Given the description of an element on the screen output the (x, y) to click on. 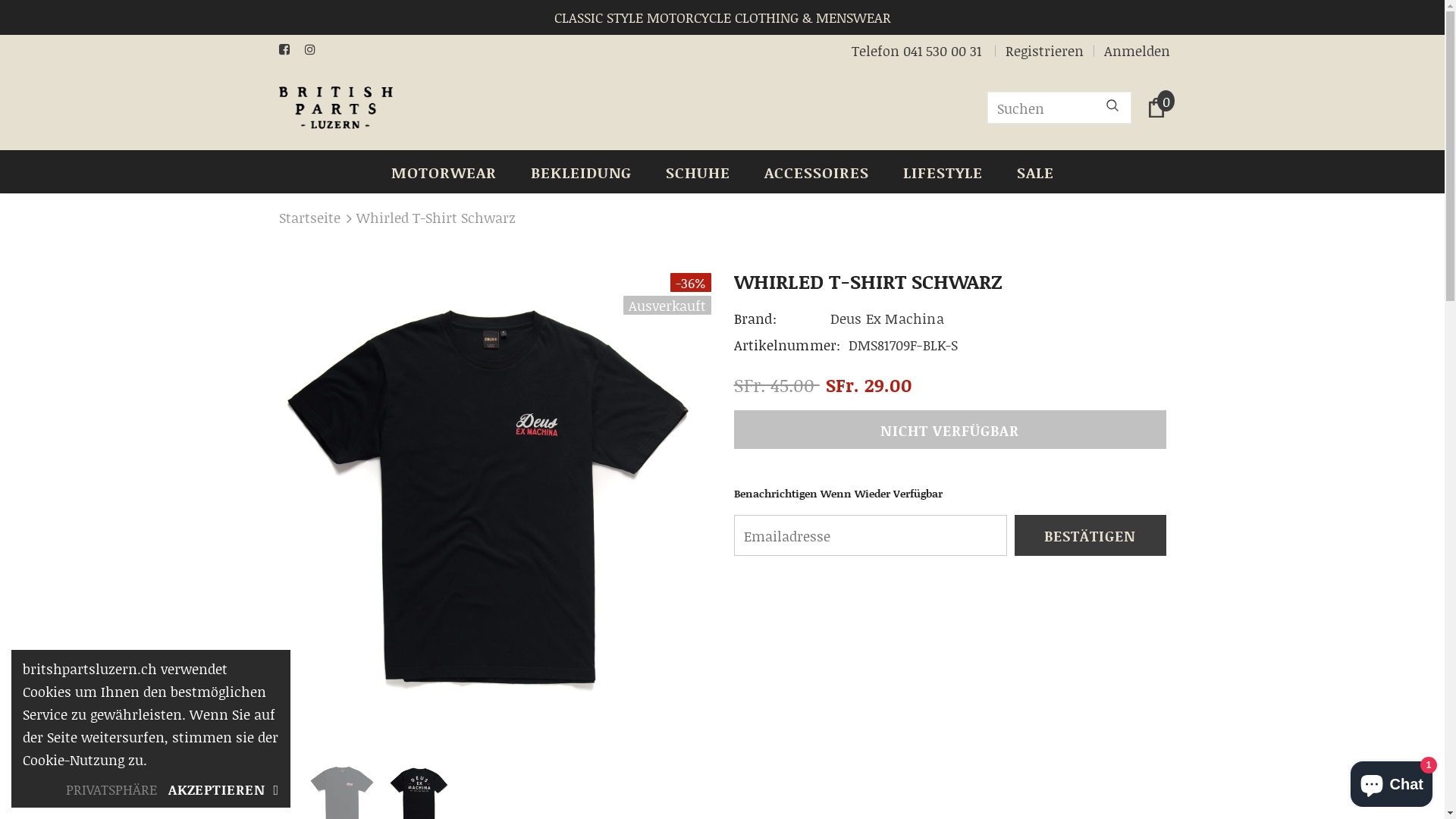
Instagram Element type: hover (313, 49)
SCHUHE Element type: text (697, 171)
Startseite Element type: text (309, 217)
Deus Ex Machina Element type: text (887, 318)
BEKLEIDUNG Element type: text (580, 171)
Logo Element type: hover (335, 107)
0 Element type: text (1156, 107)
Registrieren Element type: text (1044, 50)
Facebook Element type: hover (288, 49)
LIFESTYLE Element type: text (942, 171)
MOTORWEAR Element type: text (443, 171)
Anmelden Element type: text (1131, 50)
ACCESSOIRES Element type: text (816, 171)
Onlineshop-Chat von Shopify Element type: hover (1391, 780)
SALE Element type: text (1034, 171)
